Given the description of an element on the screen output the (x, y) to click on. 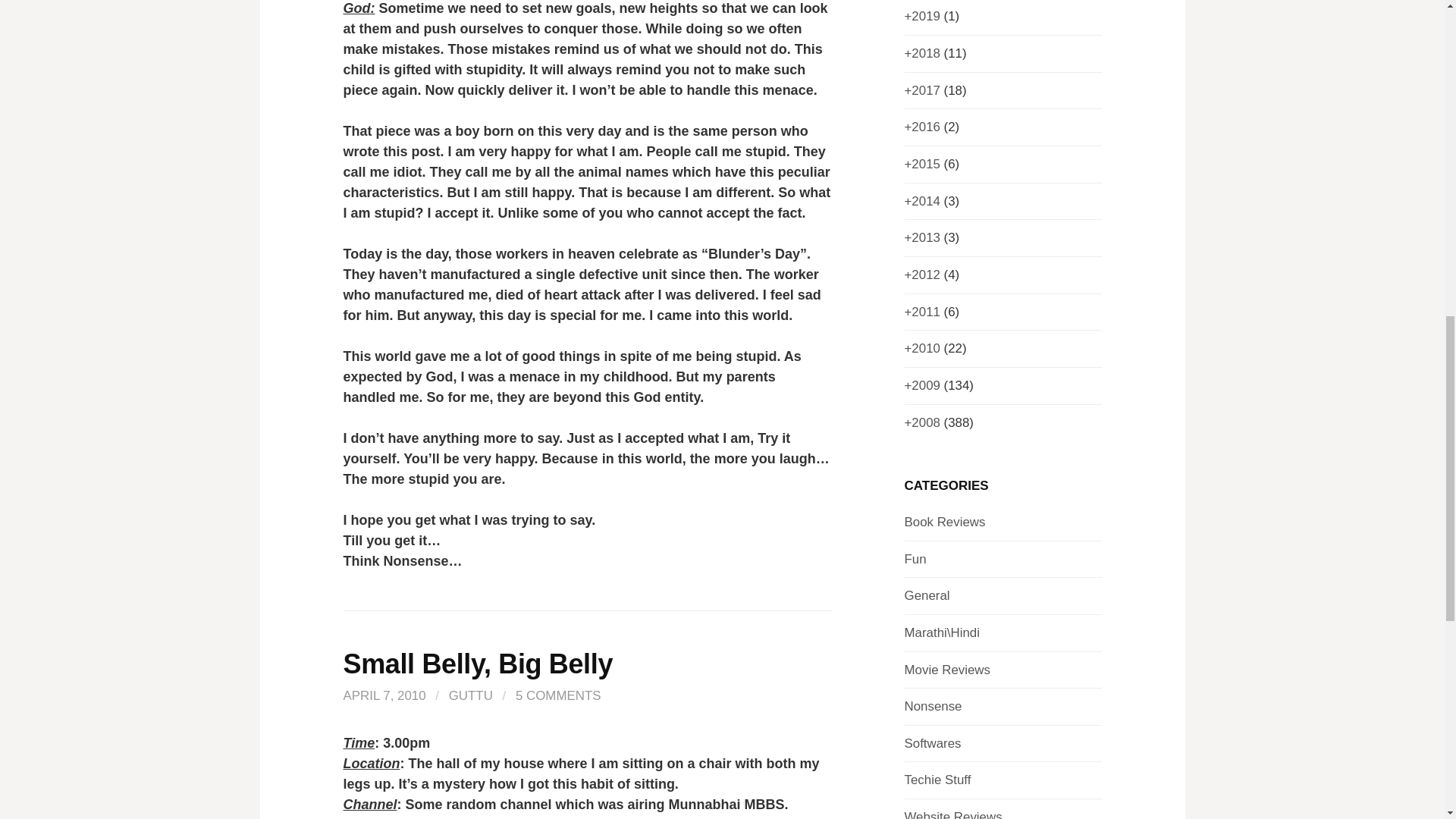
APRIL 7, 2010 (383, 695)
Small Belly, Big Belly (477, 663)
GUTTU (470, 695)
5 COMMENTS (558, 695)
